Given the description of an element on the screen output the (x, y) to click on. 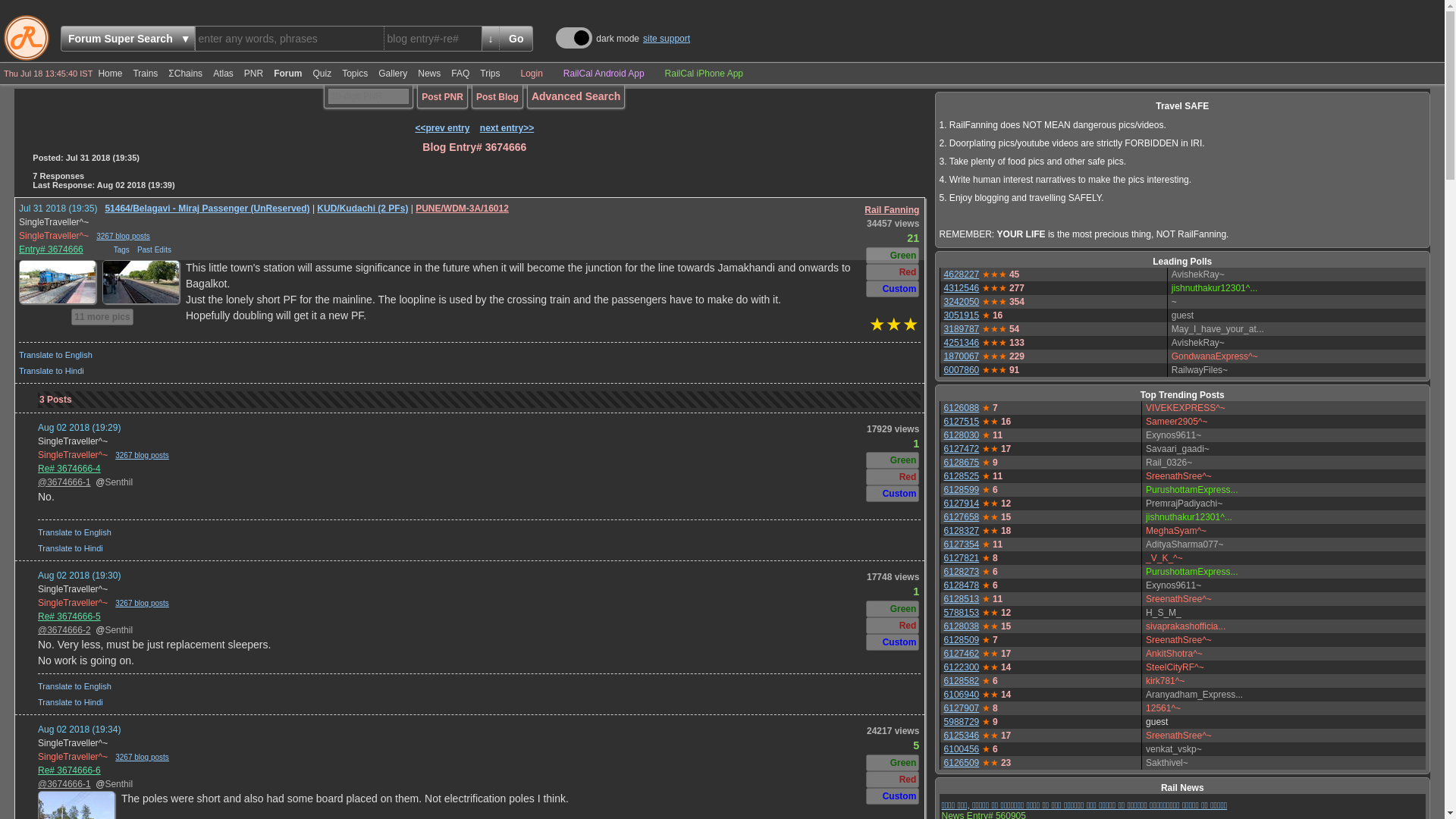
Trains (145, 73)
Atlas (223, 73)
site support (666, 38)
Home (110, 73)
